Given the description of an element on the screen output the (x, y) to click on. 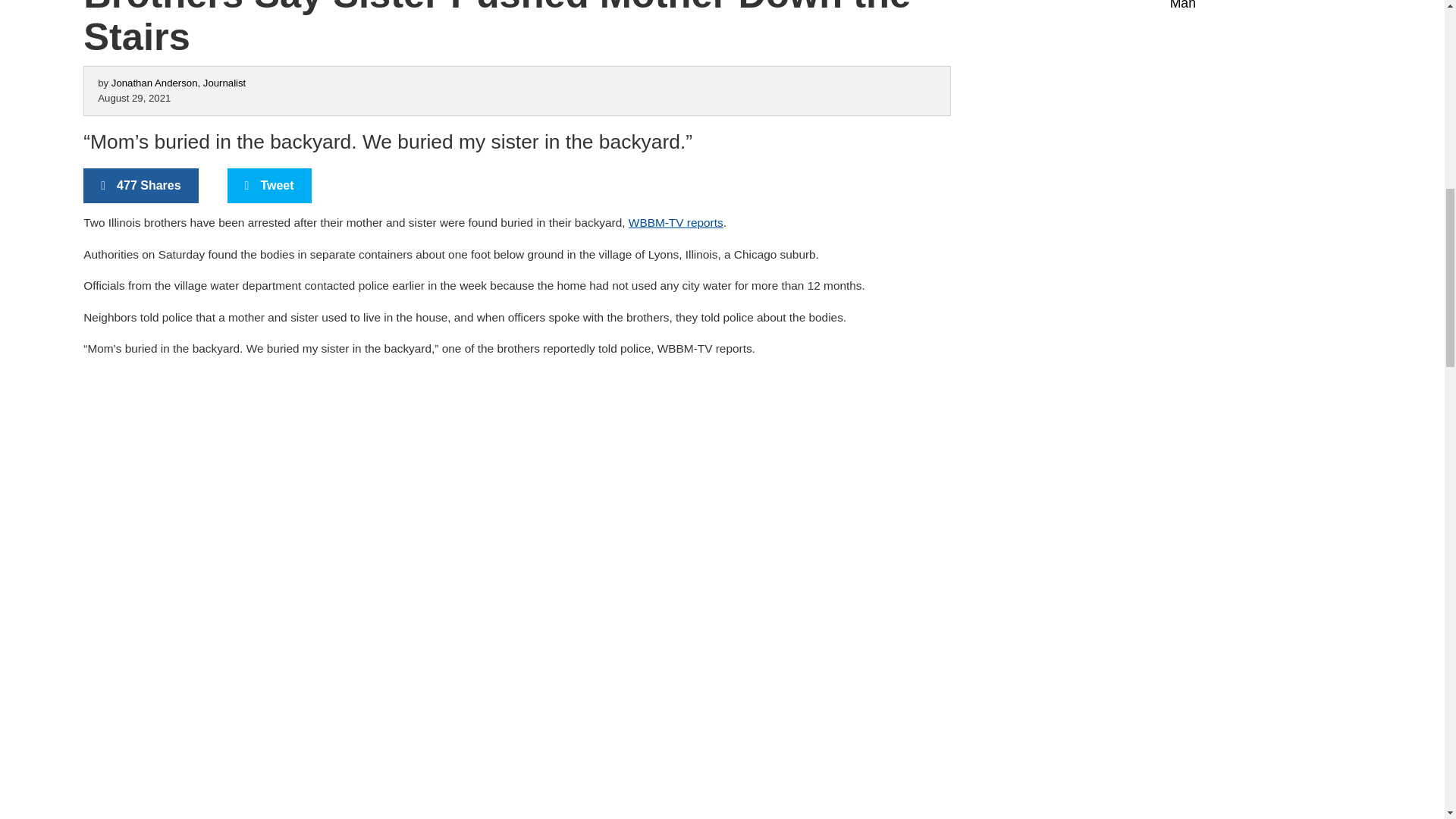
Jonathan Anderson, Journalist (179, 82)
Tweet (269, 185)
WBBM-TV reports (675, 222)
Posts by Jonathan Anderson, Journalist (179, 82)
August 29, 2021 (133, 98)
477 Shares (140, 185)
